Given the description of an element on the screen output the (x, y) to click on. 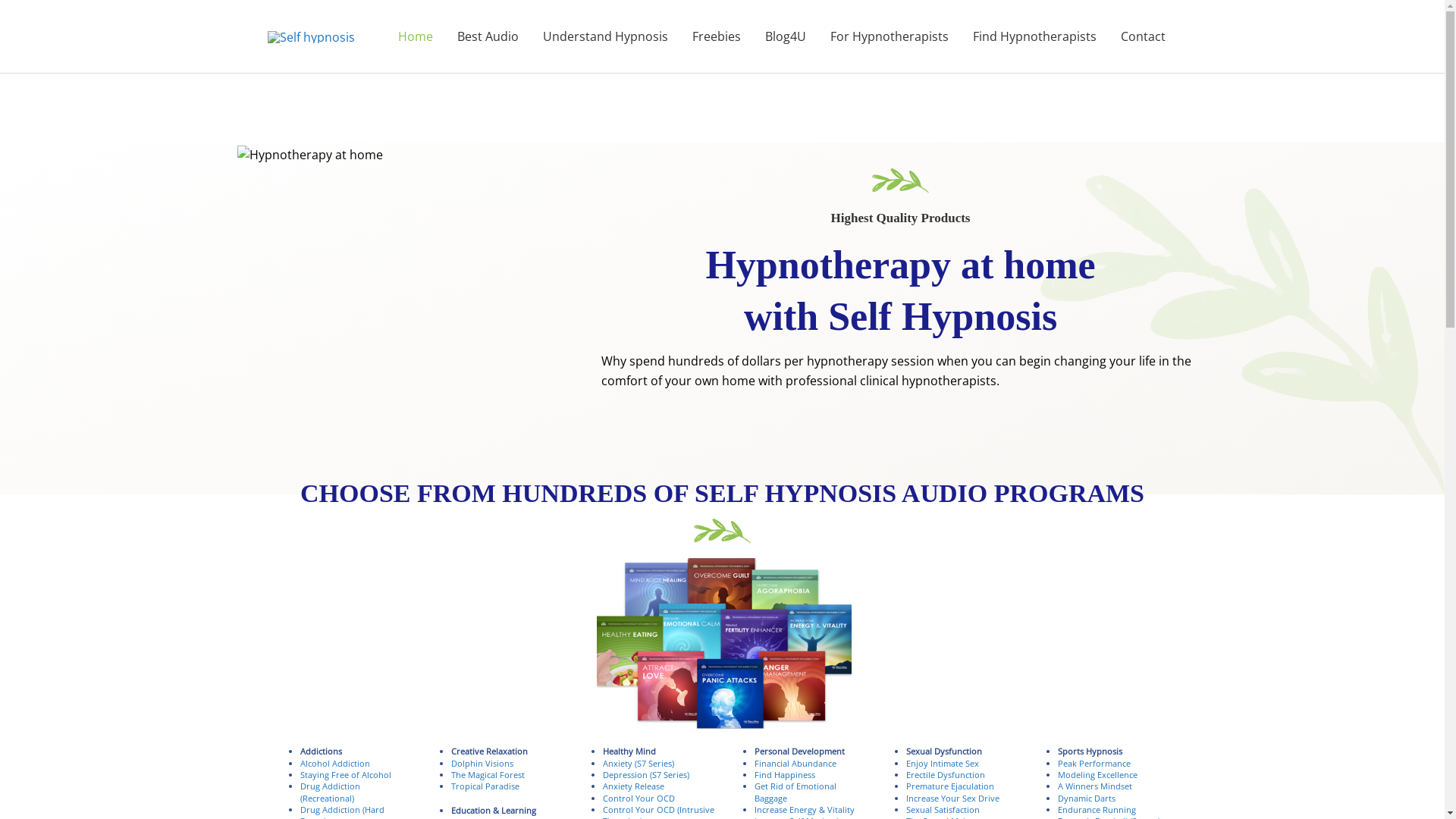
Peak Performance Element type: text (1093, 762)
Sexual Satisfaction Element type: text (942, 809)
Erectile Dysfunction Element type: text (945, 774)
Increase Your Sex Drive Element type: text (952, 797)
Modeling Excellence Element type: text (1097, 774)
Best Audio Element type: text (487, 36)
Increase Energy & Vitality Element type: text (804, 809)
Freebies Element type: text (715, 36)
A Winners Mindset Element type: text (1094, 785)
Find Happiness Element type: text (784, 774)
Anxiety (S7 Series) Element type: text (638, 762)
Endurance Running Element type: text (1096, 809)
Blog4U Element type: text (784, 36)
Premature Ejaculation Element type: text (950, 785)
Tropical Paradise Element type: text (485, 785)
Alcohol Addiction Element type: text (335, 762)
Financial Abundance Element type: text (795, 762)
Understand Hypnosis Element type: text (605, 36)
Contact Element type: text (1142, 36)
Drug Addiction (Recreational) Element type: text (330, 791)
Dolphin Visions Element type: text (482, 762)
Enjoy Intimate Sex Element type: text (942, 762)
Anxiety Release Element type: text (633, 785)
For Hypnotherapists Element type: text (888, 36)
Get Rid of Emotional Baggage Element type: text (795, 791)
Depression (S7 Series) Element type: text (645, 774)
Find Hypnotherapists Element type: text (1033, 36)
The Magical Forest Element type: text (487, 774)
Home Element type: text (414, 36)
Control Your OCD Element type: text (638, 797)
Dynamic Darts Element type: text (1086, 797)
Staying Free of Alcohol Element type: text (345, 774)
